Given the description of an element on the screen output the (x, y) to click on. 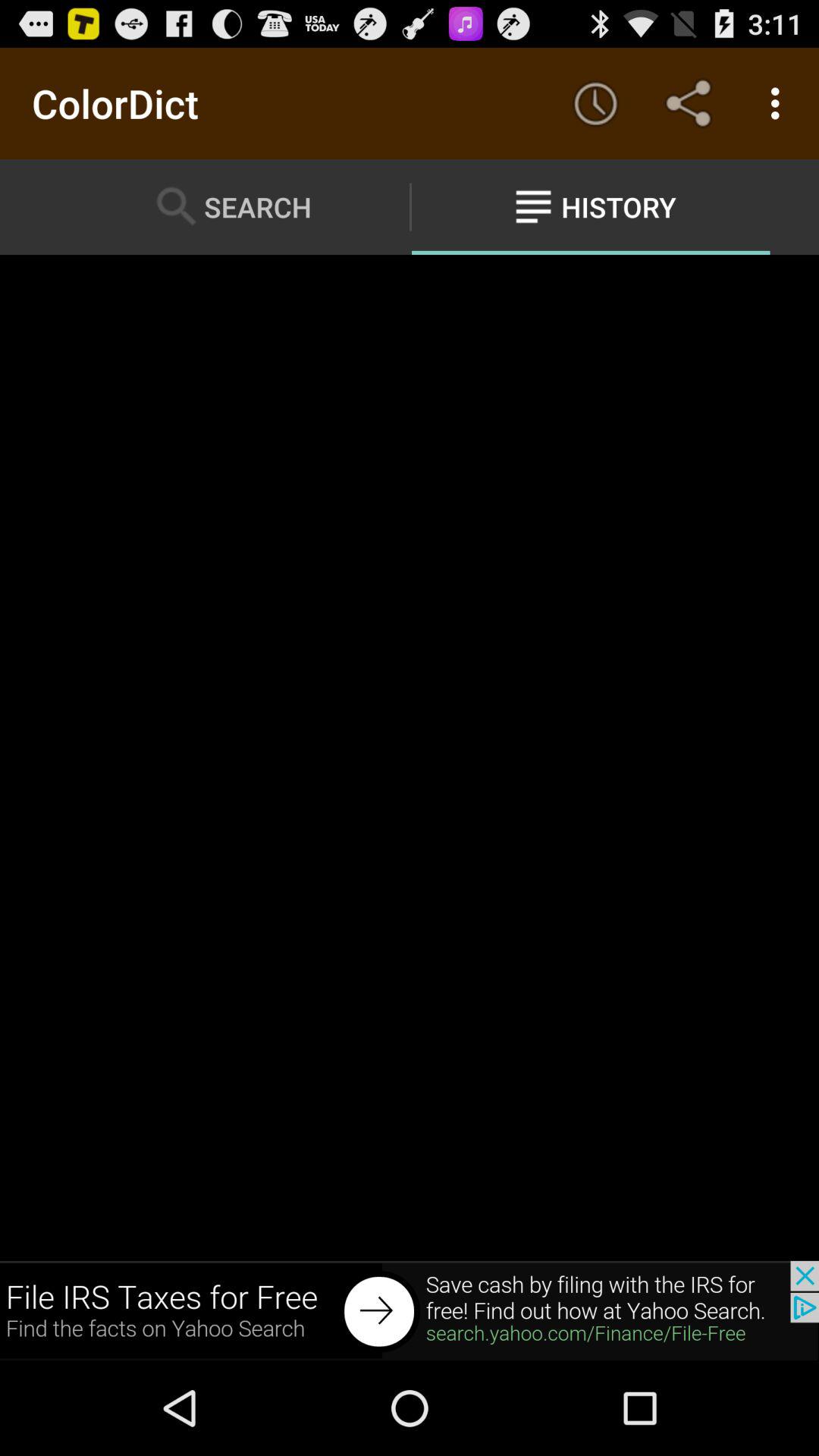
go to back (409, 1310)
